Given the description of an element on the screen output the (x, y) to click on. 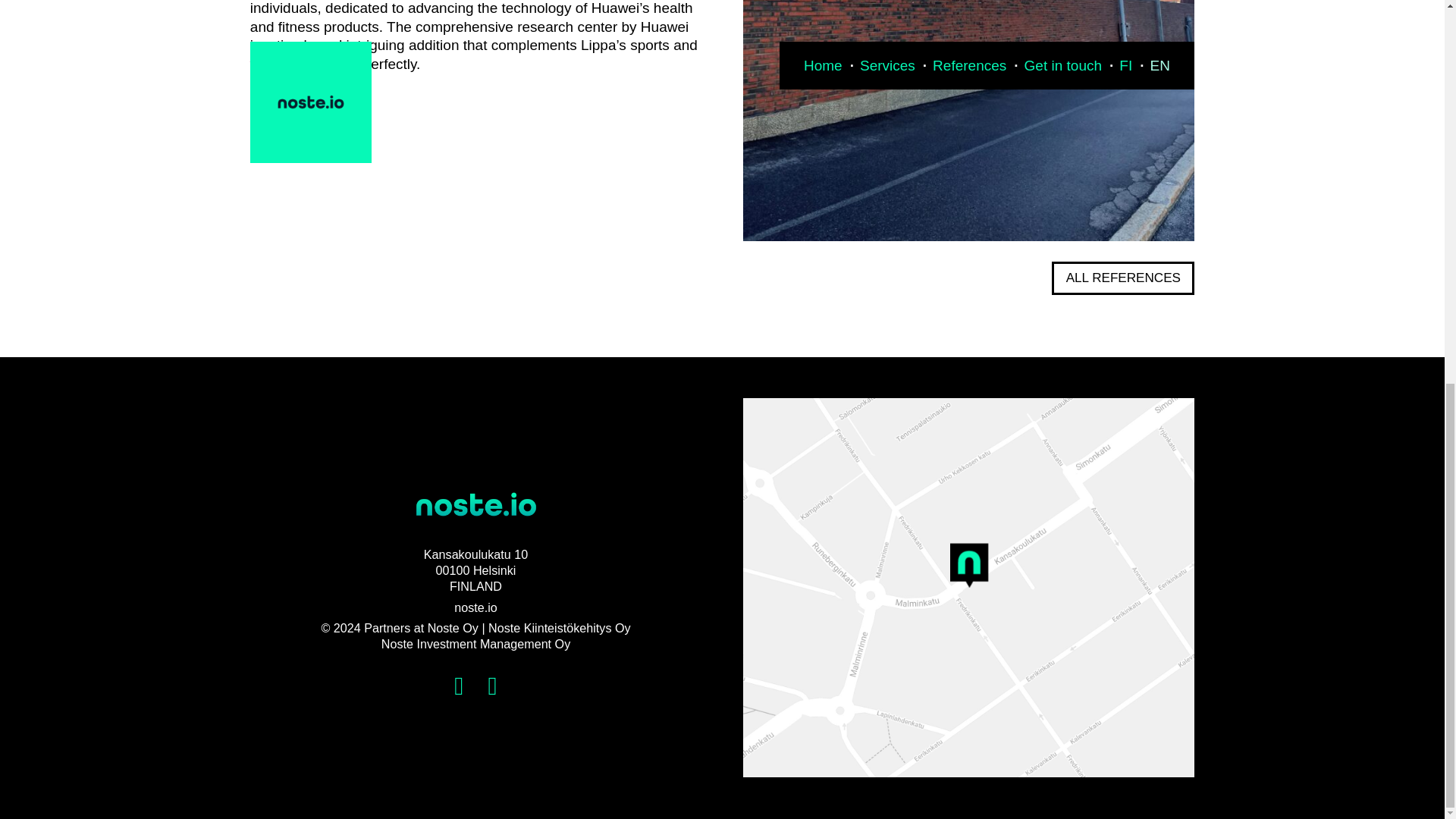
ALL REFERENCES (1122, 277)
noste.io - Instagram (492, 685)
noste.io - LinkedIn (458, 685)
